Given the description of an element on the screen output the (x, y) to click on. 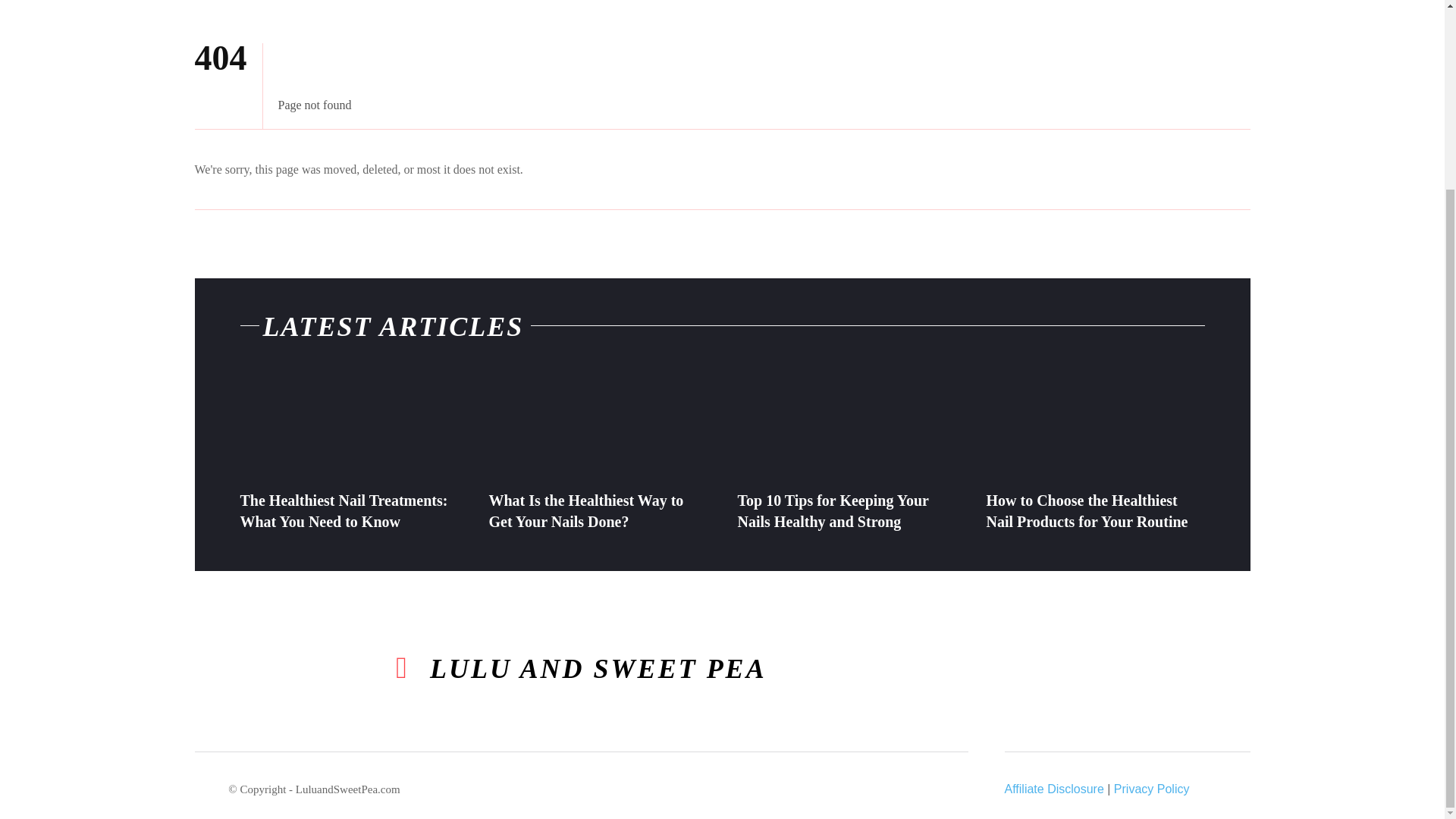
What Is the Healthiest Way to Get Your Nails Done? (584, 510)
The Healthiest Nail Treatments: What You Need to Know (349, 425)
LULU AND SWEET PEA (580, 669)
The Healthiest Nail Treatments: What You Need to Know (343, 510)
What Is the Healthiest Way to Get Your Nails Done? (596, 425)
Privacy Policy (1151, 788)
The Healthiest Nail Treatments: What You Need to Know (343, 510)
What Is the Healthiest Way to Get Your Nails Done? (584, 510)
Affiliate Disclosure (1053, 788)
Top 10 Tips for Keeping Your Nails Healthy and Strong (832, 510)
